Given the description of an element on the screen output the (x, y) to click on. 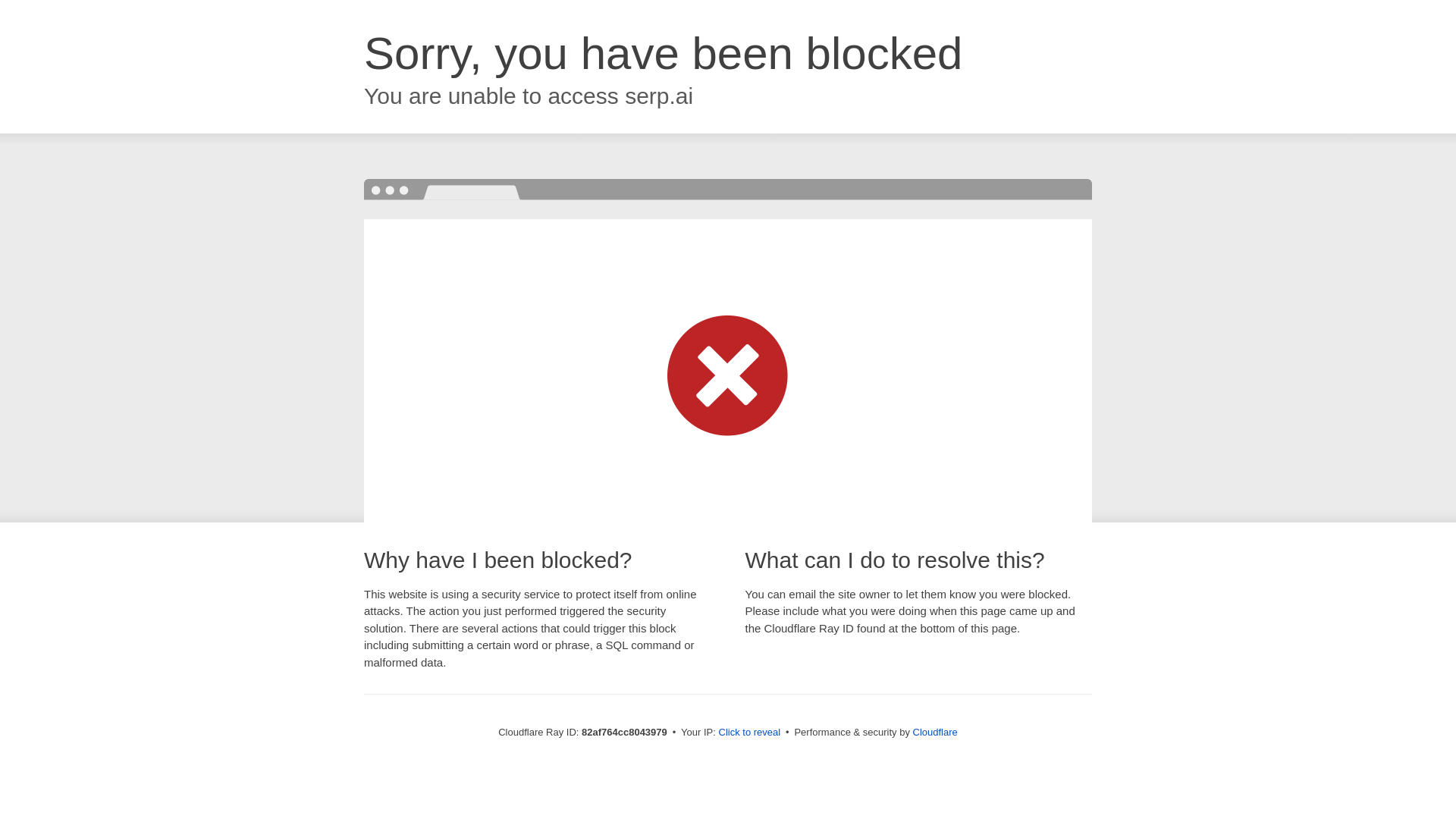
Click to reveal Element type: text (749, 732)
Cloudflare Element type: text (935, 731)
